Given the description of an element on the screen output the (x, y) to click on. 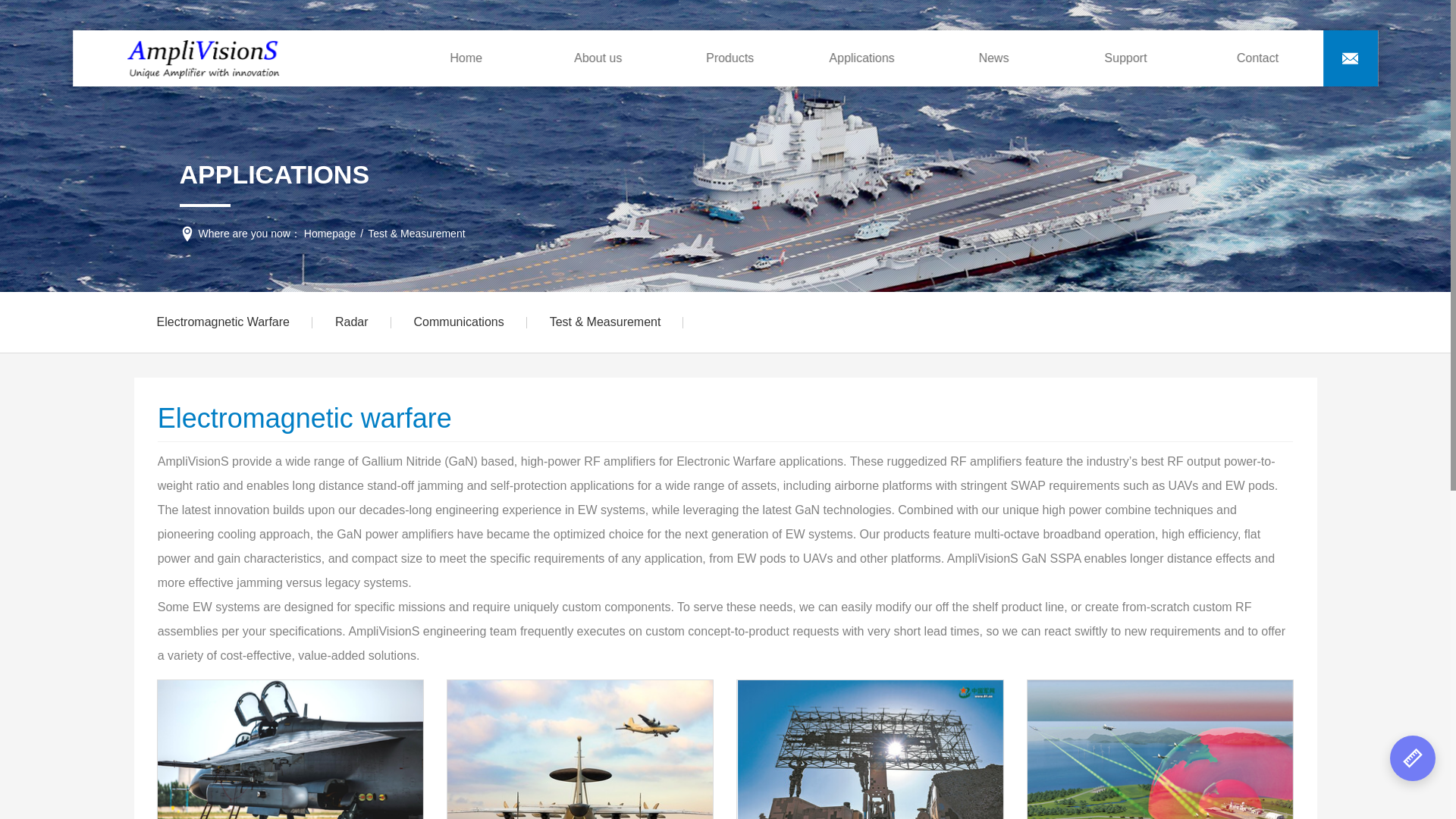
Applications (869, 749)
Products (729, 58)
Applications (290, 749)
Electromagnetic warfare (222, 321)
Support (1125, 58)
Electronic Warfare Pod (290, 749)
Applications (862, 58)
About us (597, 58)
Contact (1257, 58)
Radar Countermeasures S  ystem (869, 749)
